Given the description of an element on the screen output the (x, y) to click on. 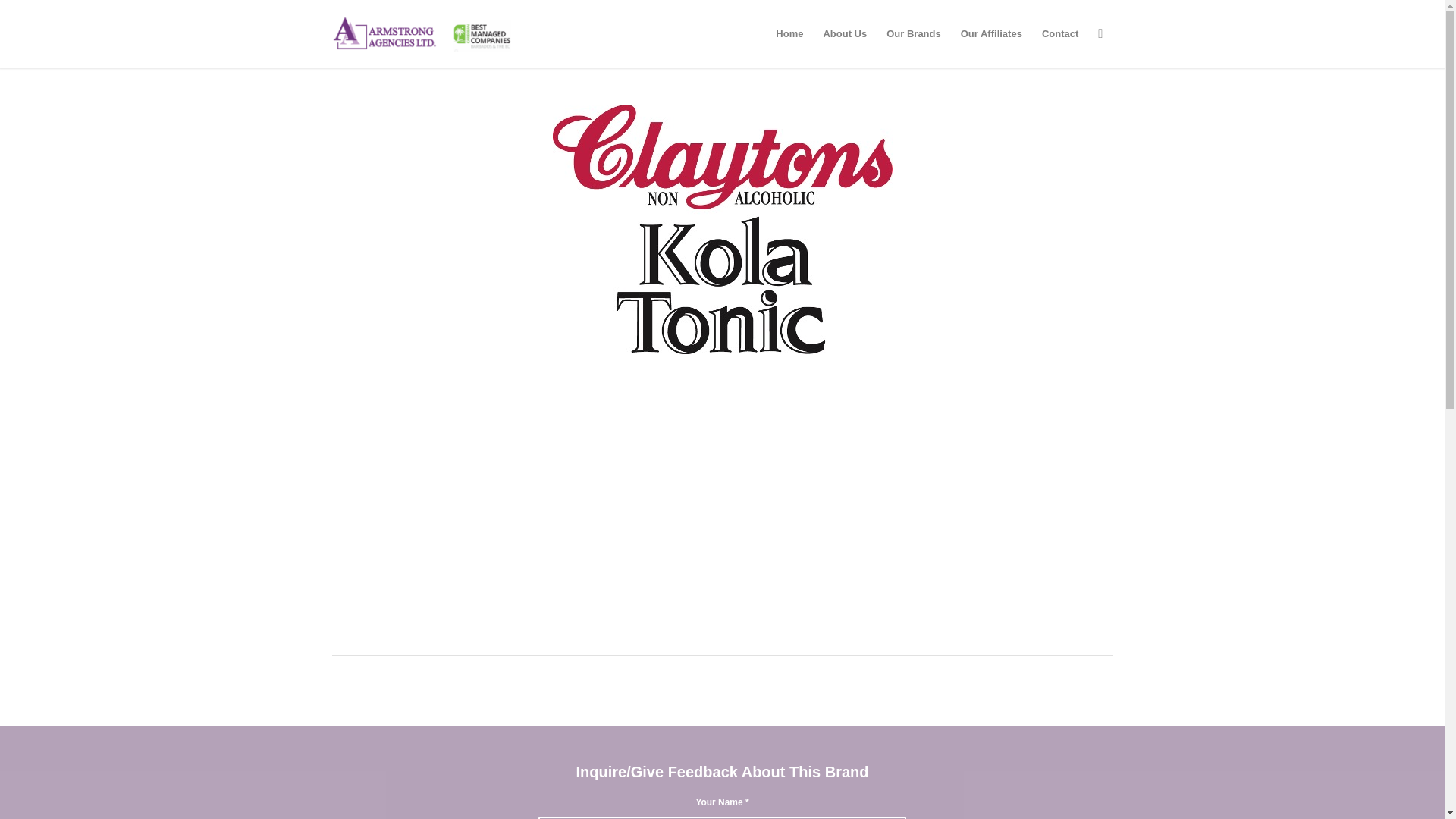
Claytons (721, 229)
About Us (844, 33)
Our Affiliates (991, 33)
Our Brands (913, 33)
